Given the description of an element on the screen output the (x, y) to click on. 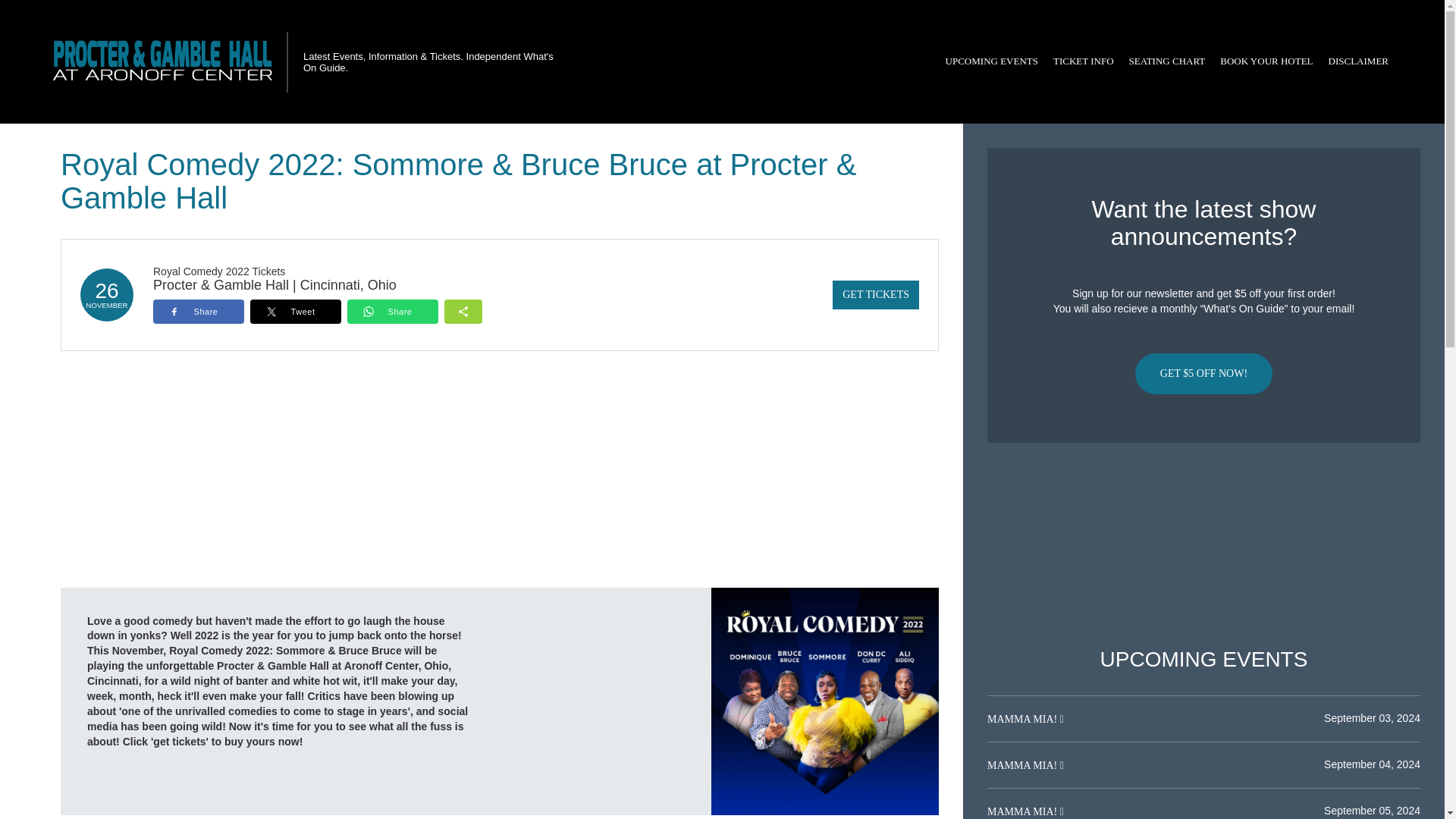
BOOK YOUR HOTEL (1266, 61)
TICKET INFO (1083, 61)
DISCLAIMER (1358, 61)
GET TICKETS (875, 294)
UPCOMING EVENTS (991, 61)
Advertisement (1204, 545)
MAMMA MIA! (1023, 718)
SEATING CHART (1166, 61)
Royal Comedy 2022 Tickets (218, 271)
